Given the description of an element on the screen output the (x, y) to click on. 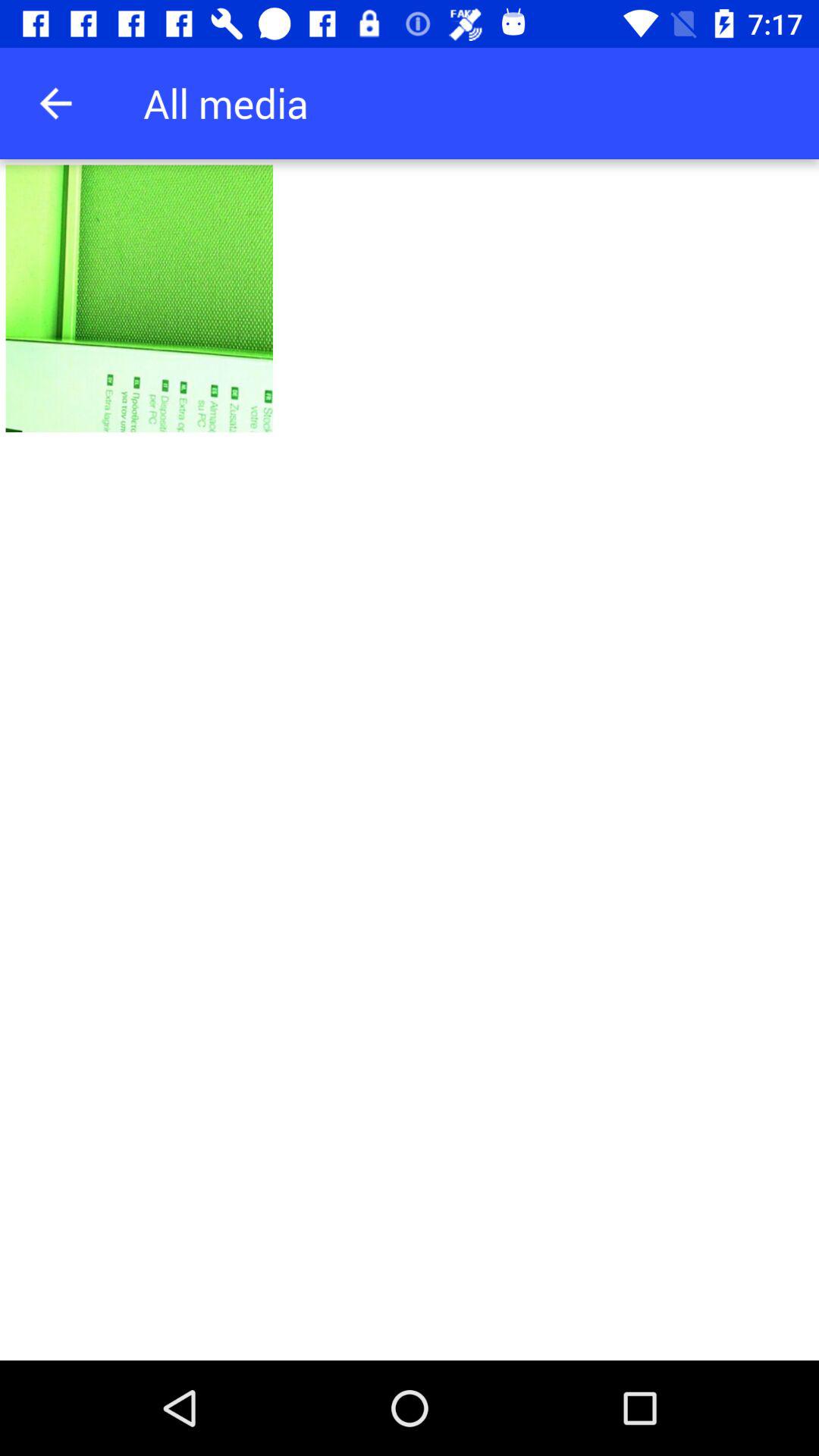
press the item next to all media icon (55, 103)
